Given the description of an element on the screen output the (x, y) to click on. 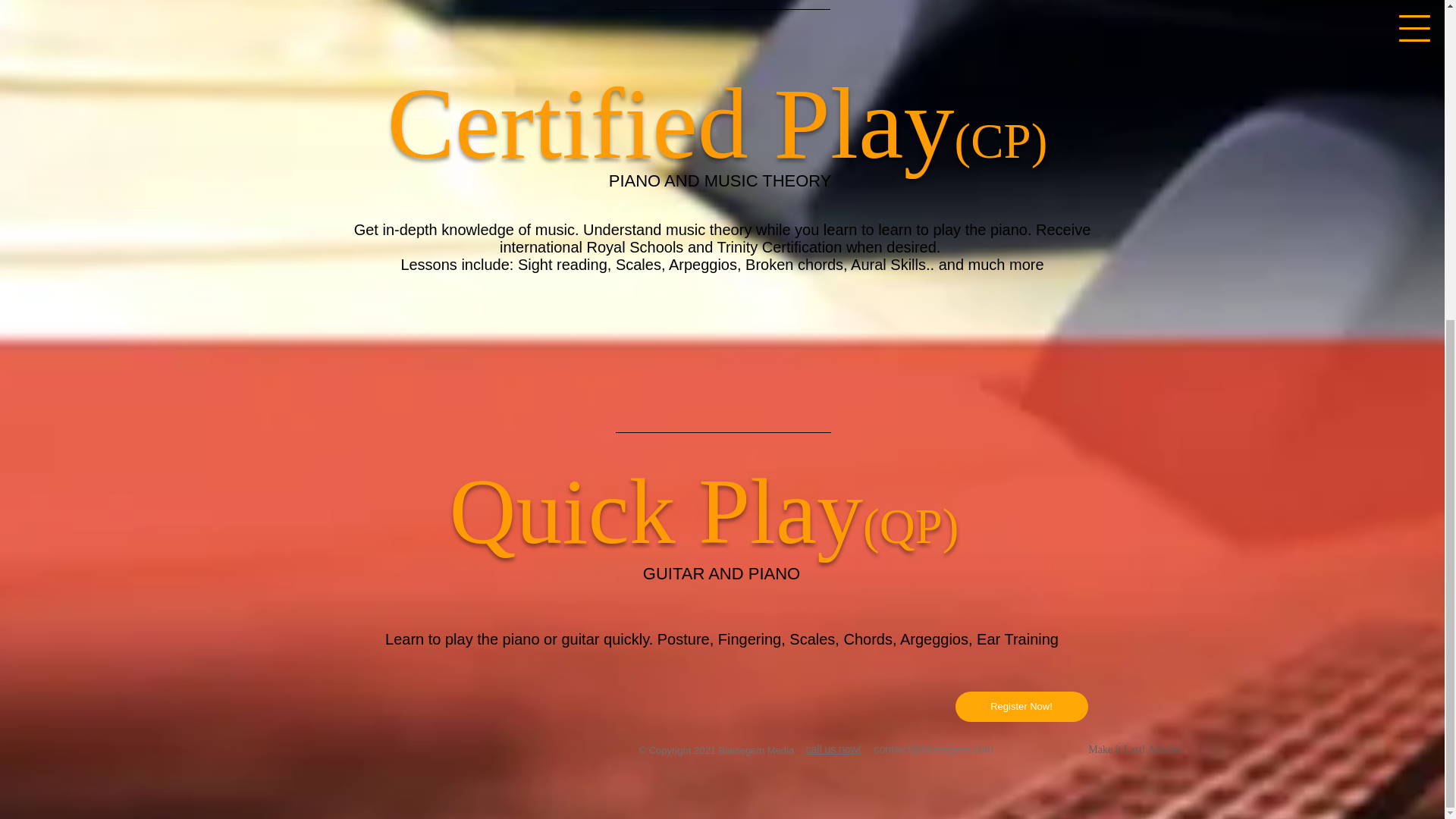
call us now! (832, 748)
Register Now! (1021, 706)
Make it Last! Articles (1134, 749)
